Given the description of an element on the screen output the (x, y) to click on. 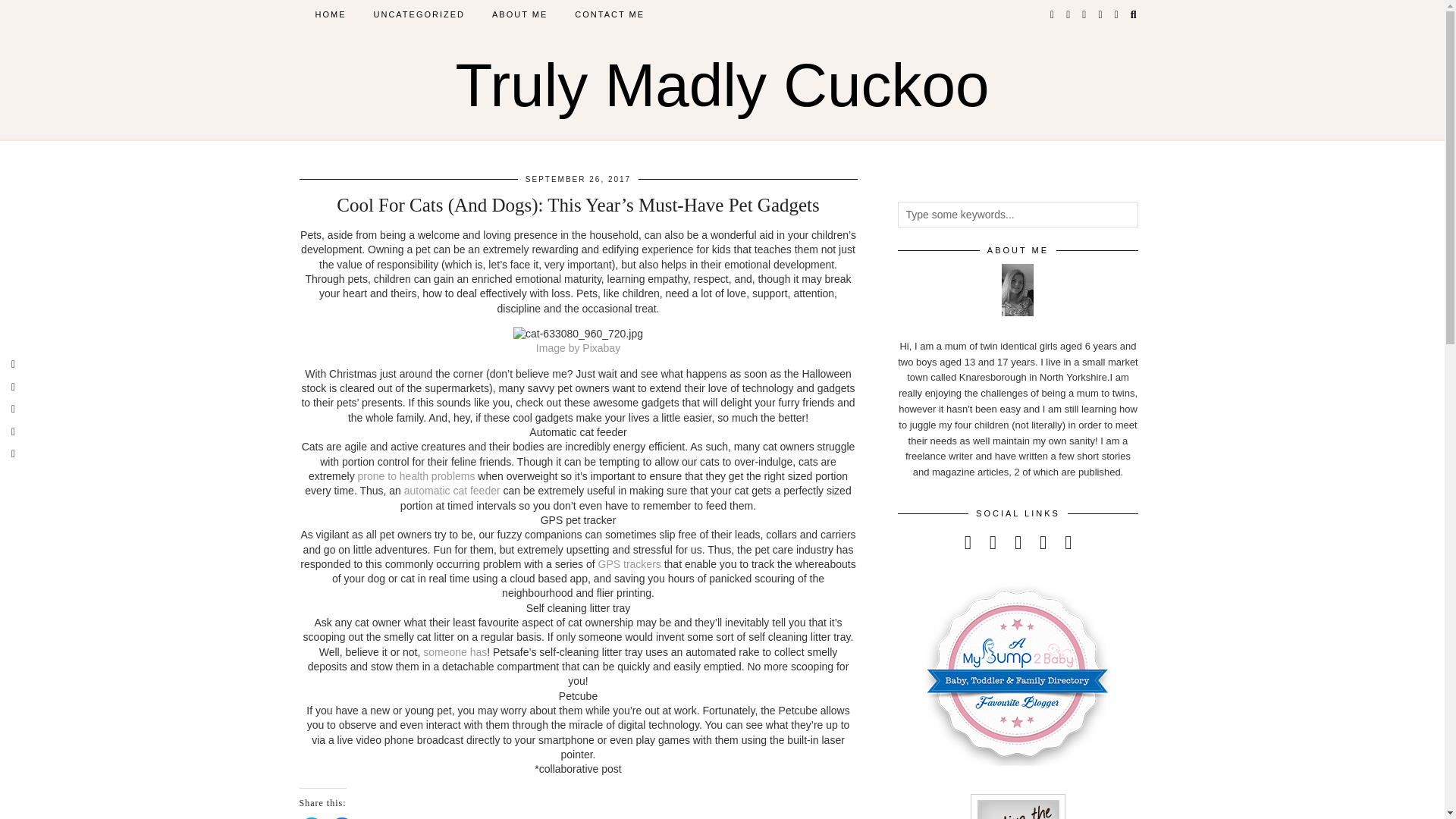
ABOUT ME (519, 14)
automatic cat feeder (453, 490)
Image by Pixabay (577, 347)
CONTACT ME (609, 14)
UNCATEGORIZED (419, 14)
someone has (454, 652)
Truly Madly Cuckoo (722, 84)
Truly Madly Cuckoo (722, 84)
HOME (330, 14)
prone to health problems (417, 476)
GPS trackers (629, 563)
